Given the description of an element on the screen output the (x, y) to click on. 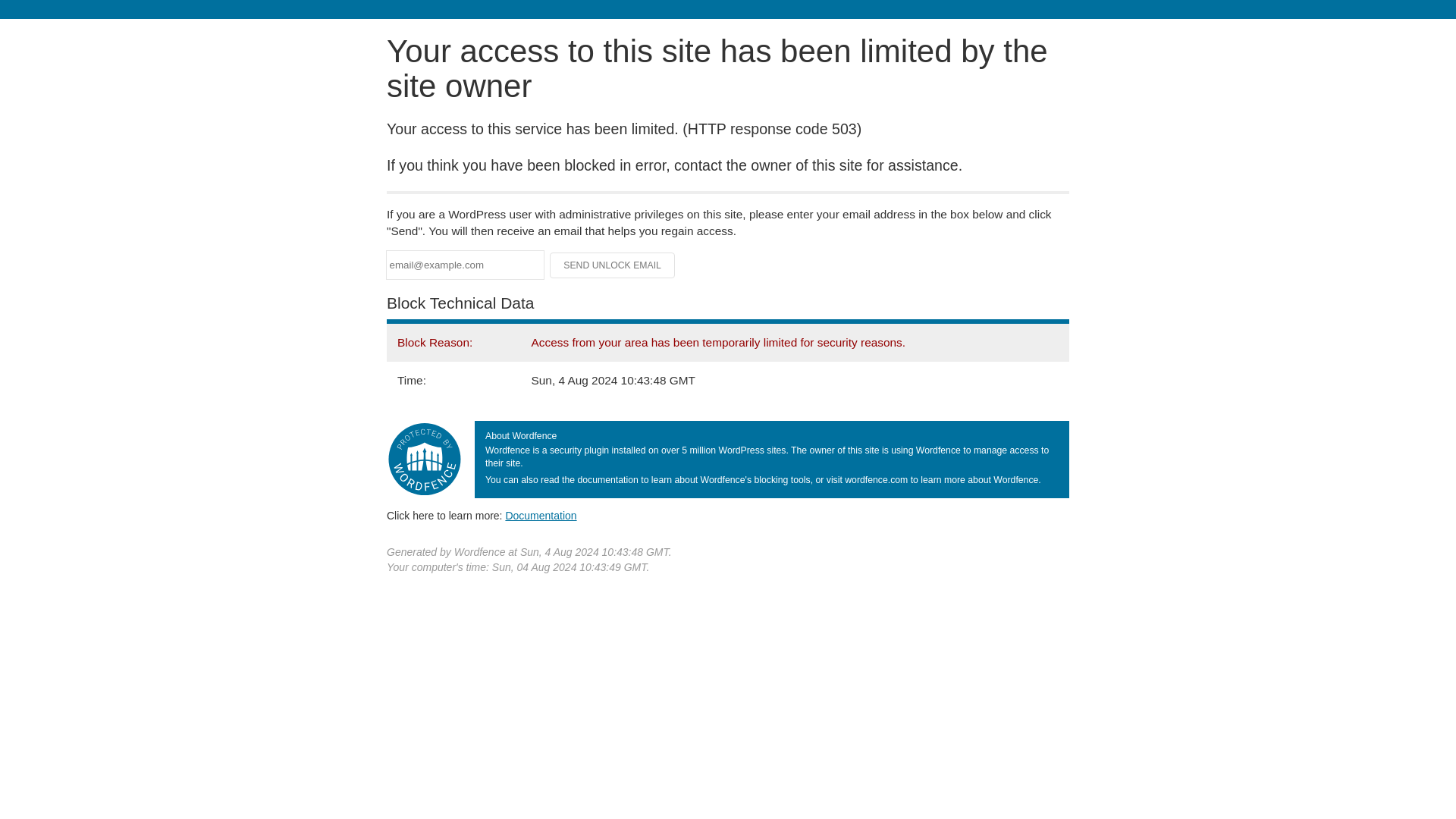
Send Unlock Email (612, 265)
Send Unlock Email (612, 265)
Documentation (540, 515)
